Given the description of an element on the screen output the (x, y) to click on. 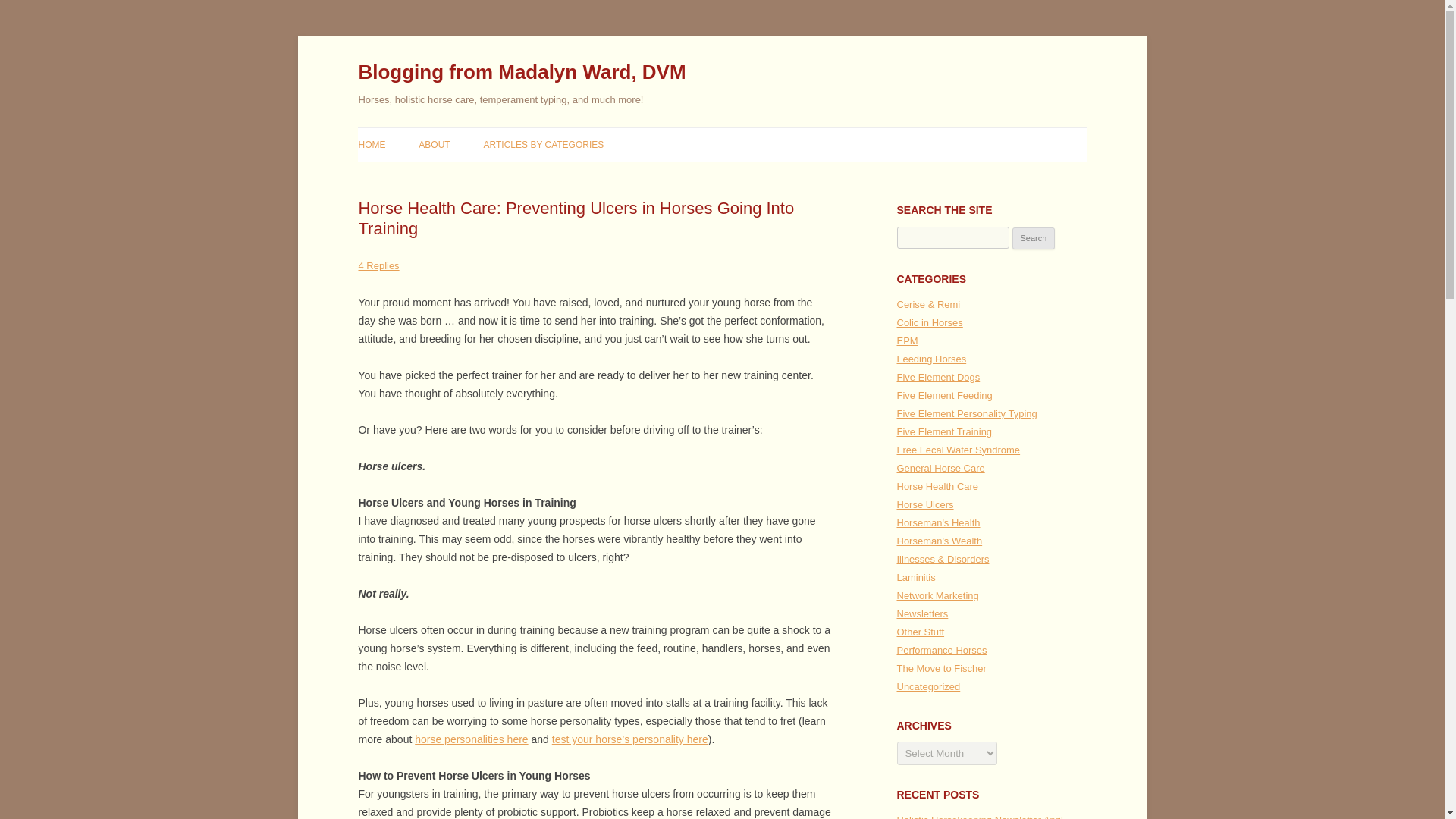
4 Replies (378, 265)
Blogging from Madalyn Ward, DVM (521, 72)
Search (1033, 238)
horse personalities here (470, 739)
Blogging from Madalyn Ward, DVM (521, 72)
ARTICLES BY CATEGORIES (543, 144)
HOME (371, 144)
ABOUT (434, 144)
